Given the description of an element on the screen output the (x, y) to click on. 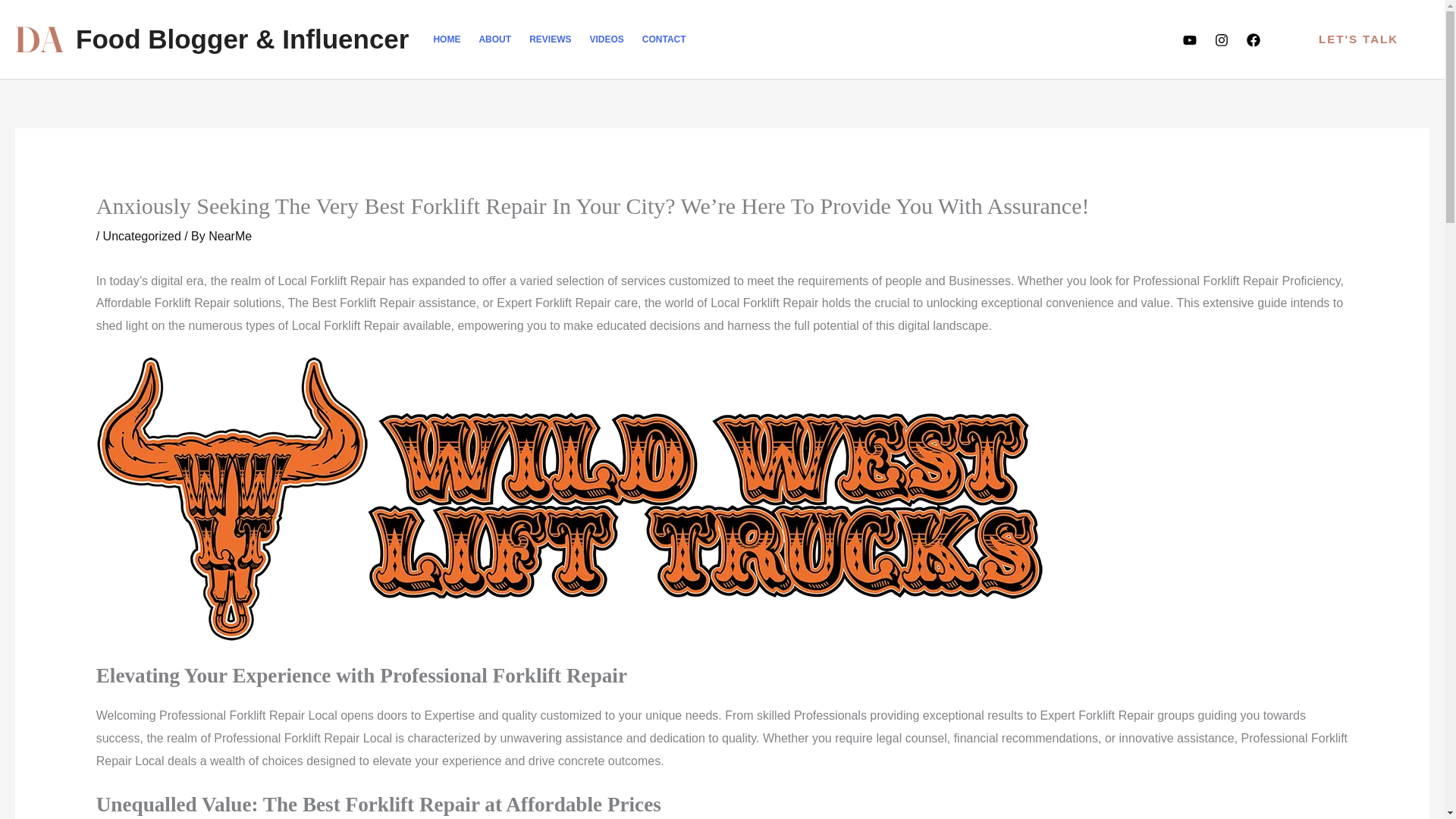
NearMe (229, 236)
Uncategorized (141, 236)
View all posts by NearMe (229, 236)
LET'S TALK (1358, 39)
